Given the description of an element on the screen output the (x, y) to click on. 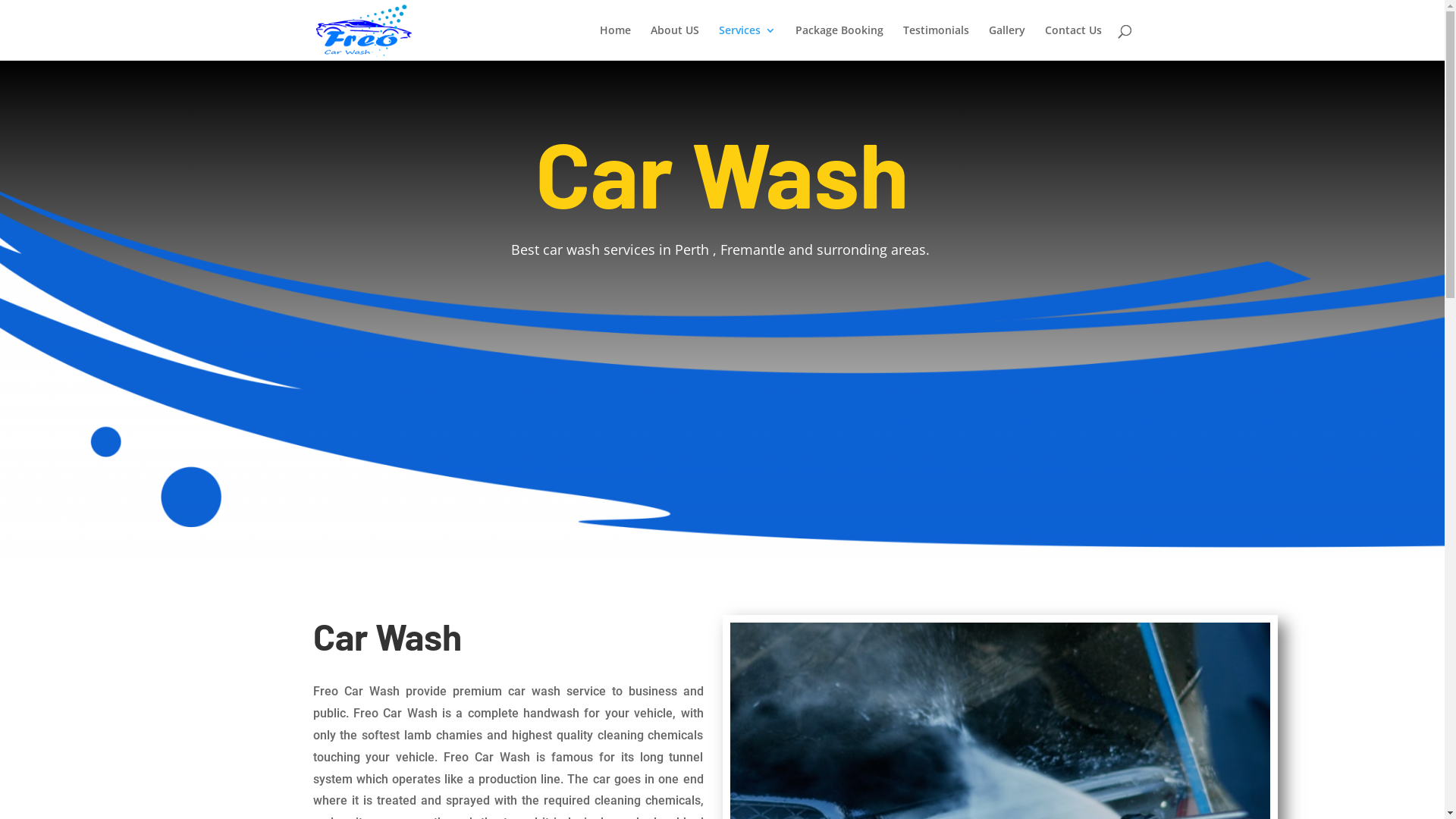
Gallery Element type: text (1006, 42)
Services Element type: text (746, 42)
Package Booking Element type: text (838, 42)
car-wash-33 Element type: hover (722, 372)
About US Element type: text (674, 42)
Home Element type: text (614, 42)
Testimonials Element type: text (935, 42)
Contact Us Element type: text (1072, 42)
